Given the description of an element on the screen output the (x, y) to click on. 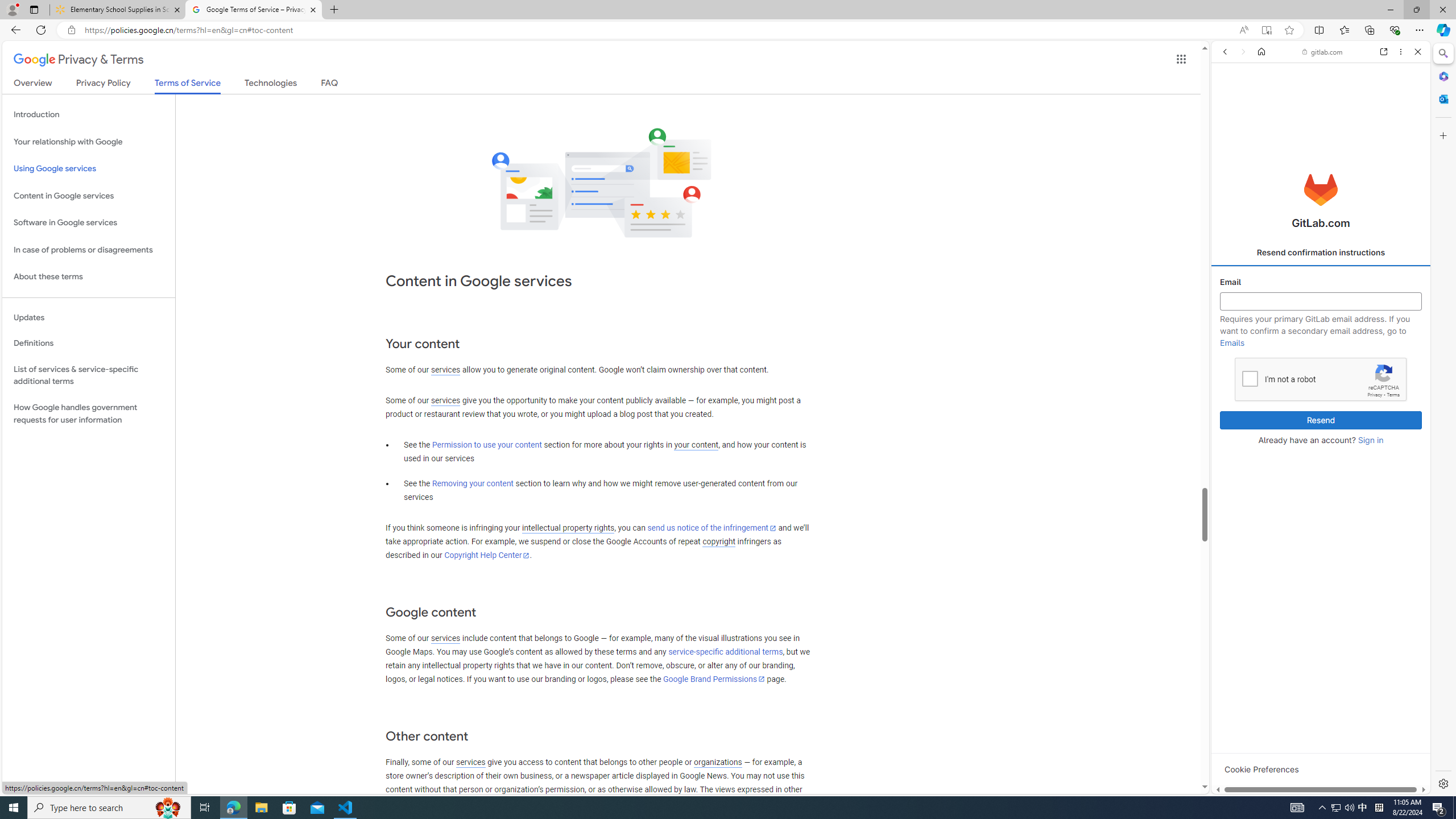
IMAGES (1260, 130)
View site information (70, 29)
Search Filter, ALL (1228, 129)
Register Now (1320, 253)
Browser essentials (1394, 29)
